Given the description of an element on the screen output the (x, y) to click on. 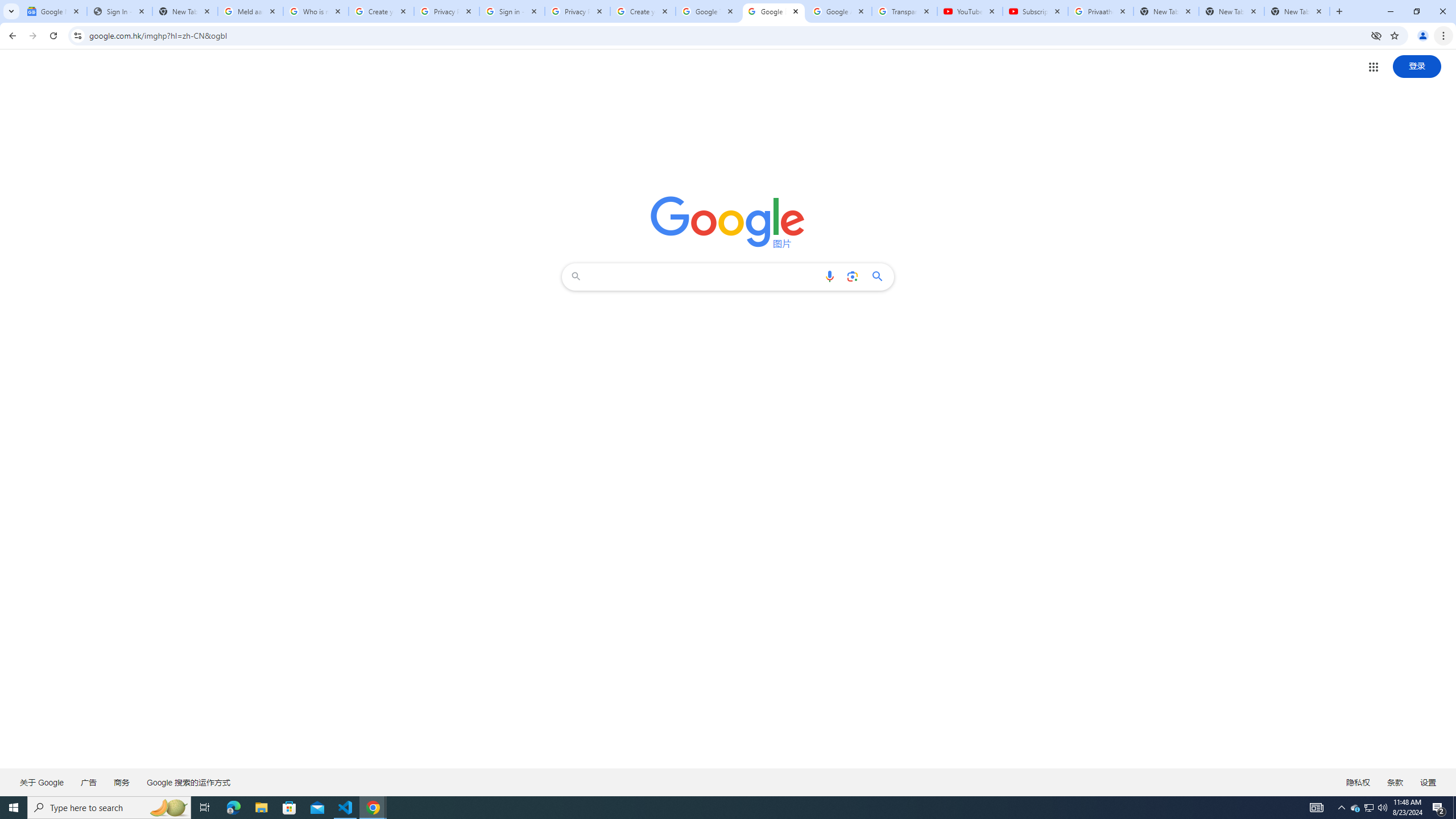
Sign in - Google Accounts (512, 11)
Google News (53, 11)
Create your Google Account (381, 11)
Google Account (838, 11)
